Given the description of an element on the screen output the (x, y) to click on. 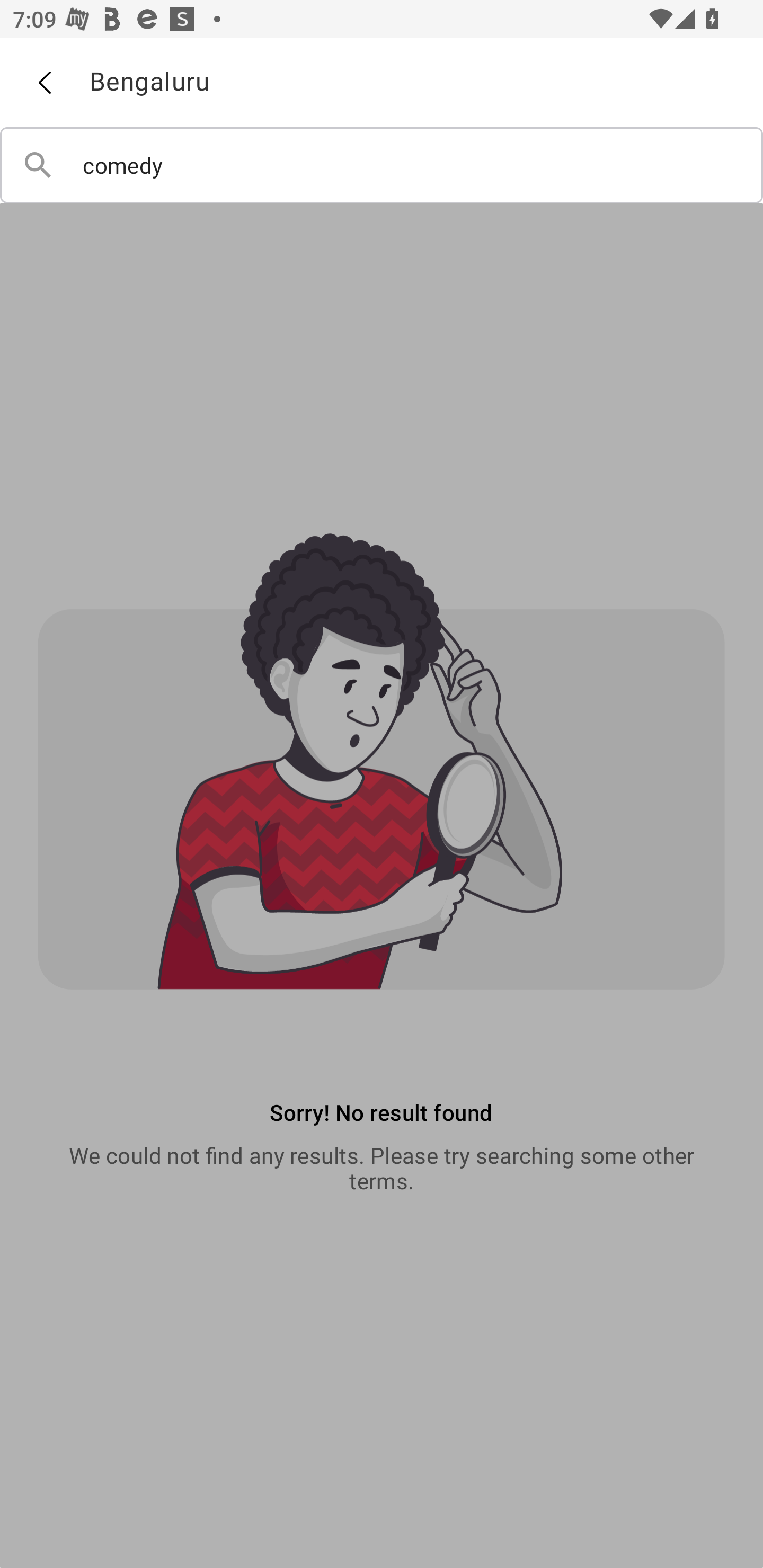
Back (44, 82)
comedy (381, 165)
